Given the description of an element on the screen output the (x, y) to click on. 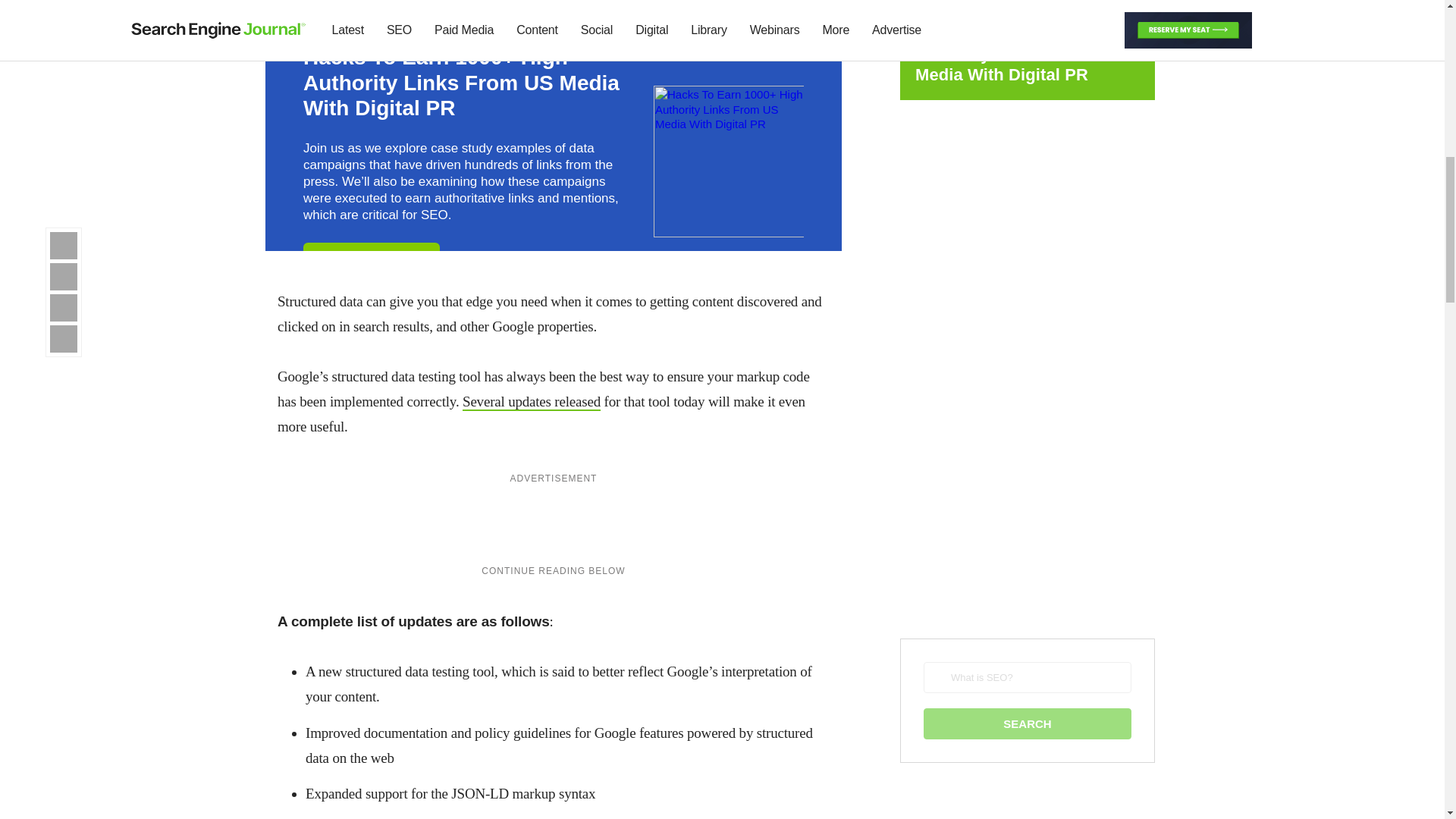
SEARCH (1027, 723)
SEARCH (1027, 723)
